Given the description of an element on the screen output the (x, y) to click on. 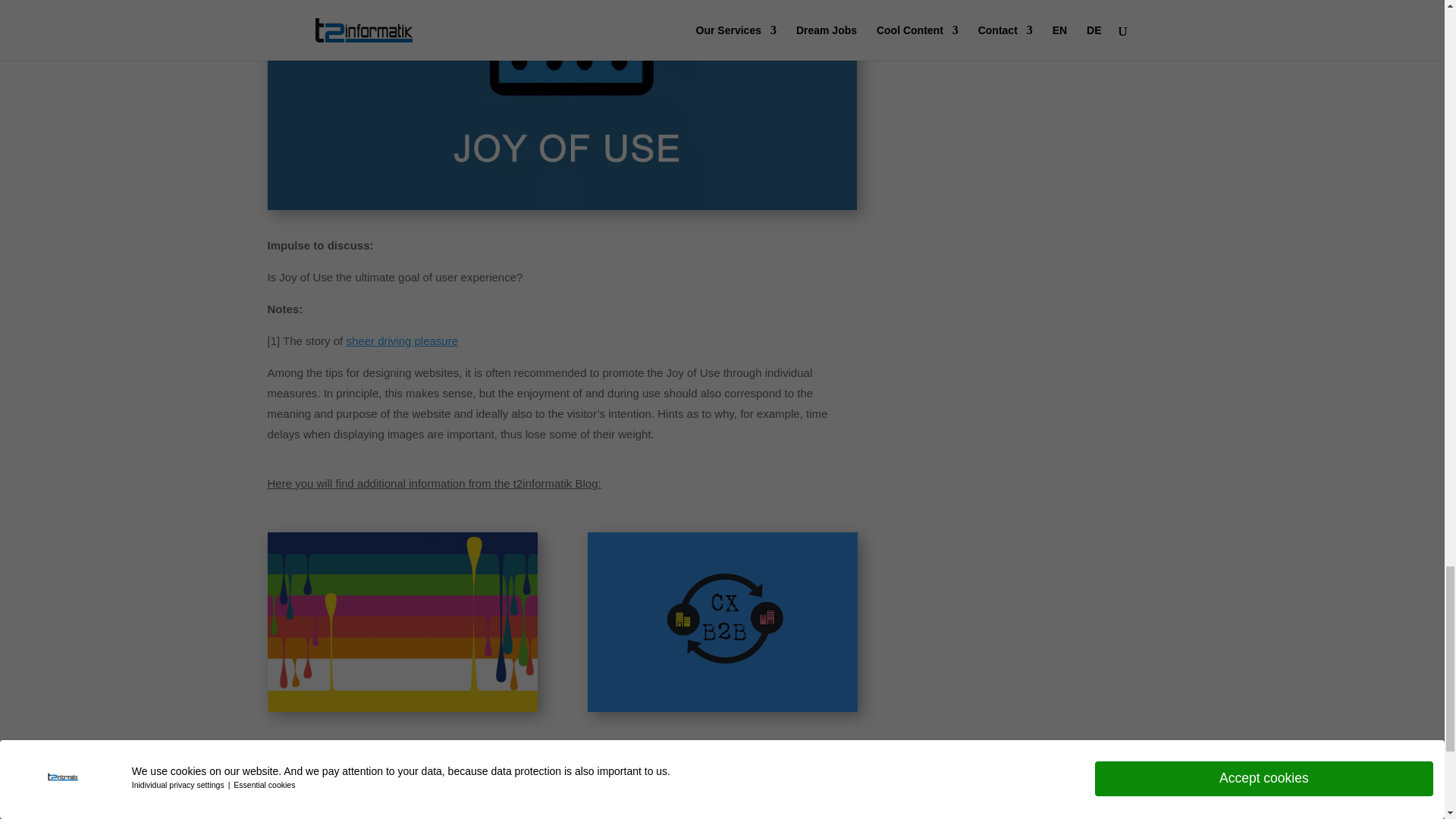
Joy of Use: usability that is fun and enjoyable (561, 104)
